Given the description of an element on the screen output the (x, y) to click on. 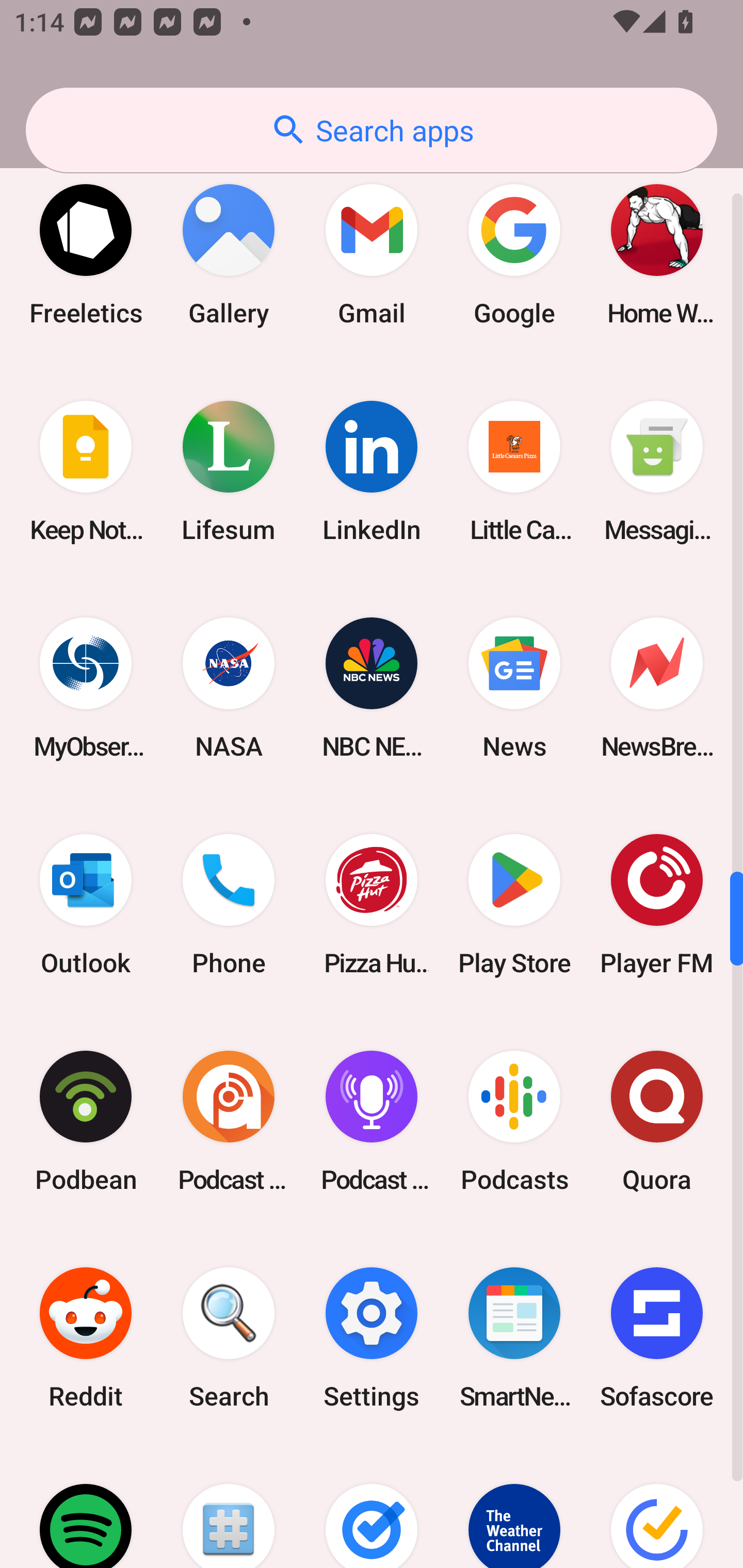
  Search apps (371, 130)
Freeletics (85, 254)
Gallery (228, 254)
Gmail (371, 254)
Google (514, 254)
Home Workout (656, 254)
Keep Notes (85, 471)
Lifesum (228, 471)
LinkedIn (371, 471)
Little Caesars Pizza (514, 471)
Messaging (656, 471)
MyObservatory (85, 688)
NASA (228, 688)
NBC NEWS (371, 688)
News (514, 688)
NewsBreak (656, 688)
Outlook (85, 904)
Phone (228, 904)
Pizza Hut HK & Macau (371, 904)
Play Store (514, 904)
Player FM (656, 904)
Podbean (85, 1120)
Podcast Addict (228, 1120)
Podcast Player (371, 1120)
Podcasts (514, 1120)
Quora (656, 1120)
Reddit (85, 1337)
Search (228, 1337)
Settings (371, 1337)
SmartNews (514, 1337)
Sofascore (656, 1337)
Spotify (85, 1506)
Superuser (228, 1506)
Tasks (371, 1506)
The Weather Channel (514, 1506)
TickTick (656, 1506)
